Given the description of an element on the screen output the (x, y) to click on. 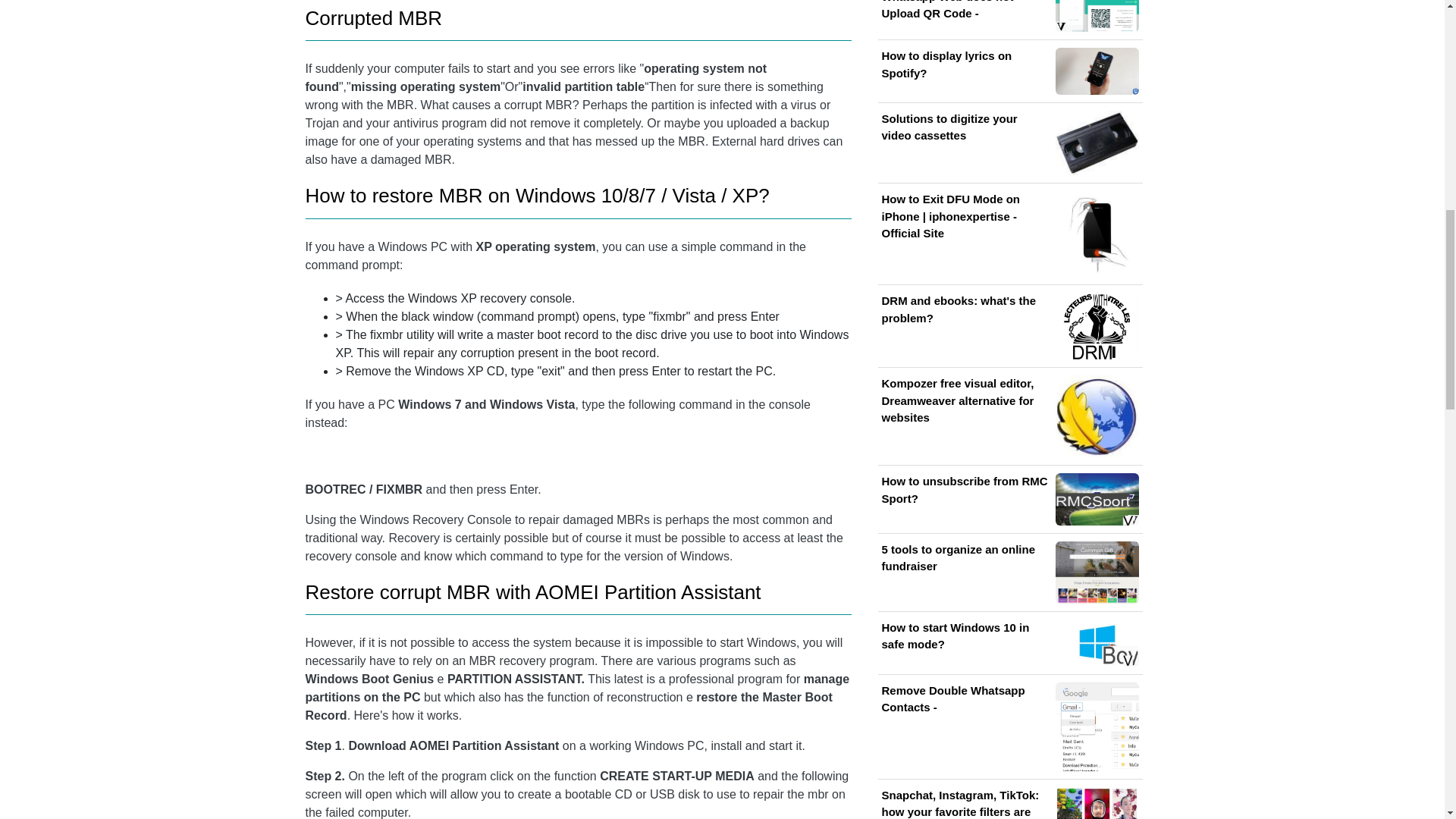
Remove Double Whatsapp Contacts - (1009, 726)
How to unsubscribe from RMC Sport? (1009, 499)
Whatsapp Web does not Upload QR Code - (1009, 15)
Whatsapp Web does not Upload QR Code - (1009, 15)
How to display lyrics on Spotify? (1009, 71)
Solutions to digitize your video cassettes (1009, 142)
How to display lyrics on Spotify? (1009, 71)
Corrupted MBR (373, 17)
Restore corrupt MBR with AOMEI Partition Assistant (532, 591)
